Given the description of an element on the screen output the (x, y) to click on. 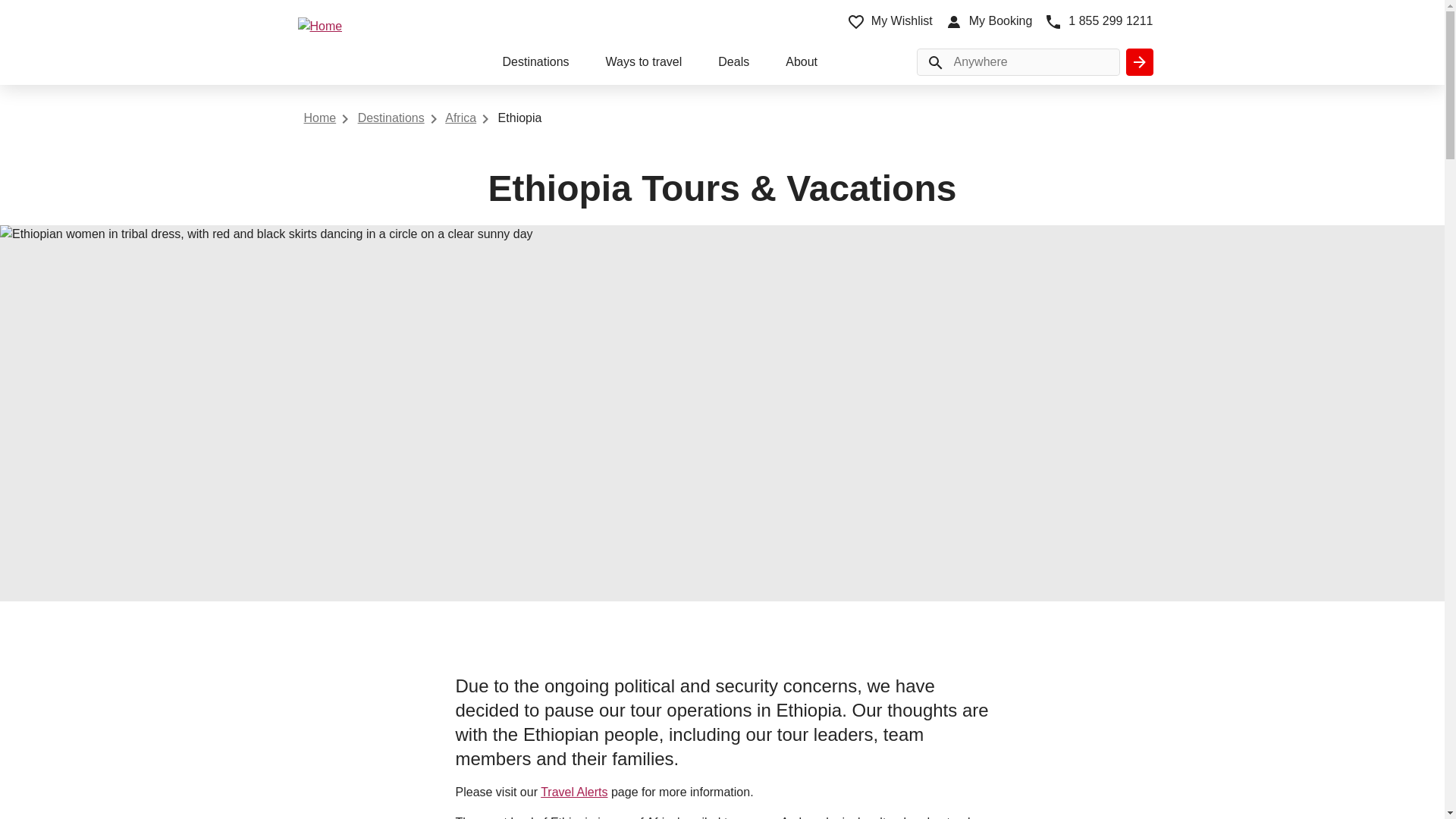
My Booking (989, 21)
Destinations (534, 63)
1 855 299 1211 (1098, 21)
Deals (733, 63)
Ways to travel (644, 63)
My Wishlist (890, 21)
About (801, 63)
